Given the description of an element on the screen output the (x, y) to click on. 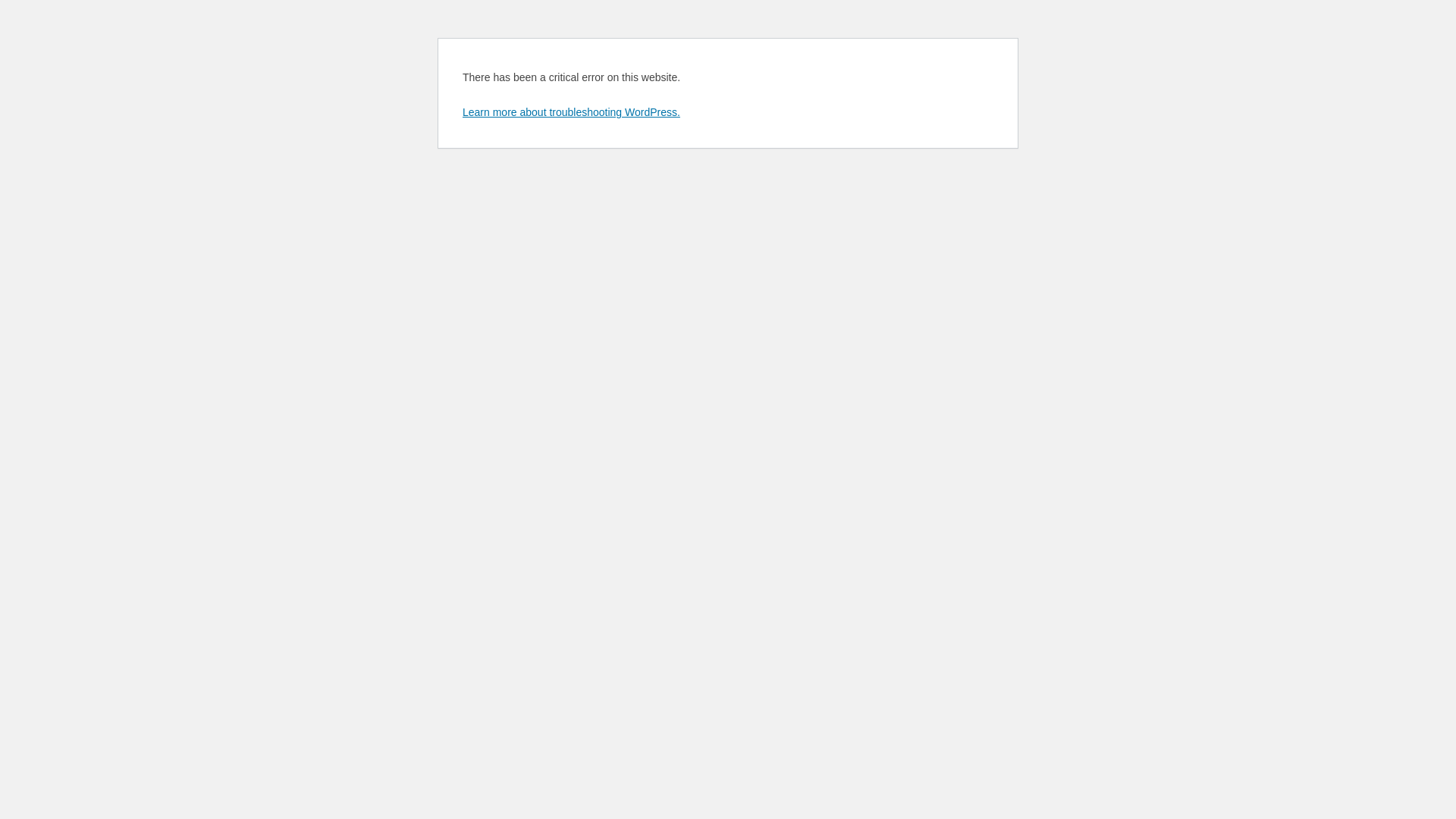
Learn more about troubleshooting WordPress. Element type: text (571, 112)
